Given the description of an element on the screen output the (x, y) to click on. 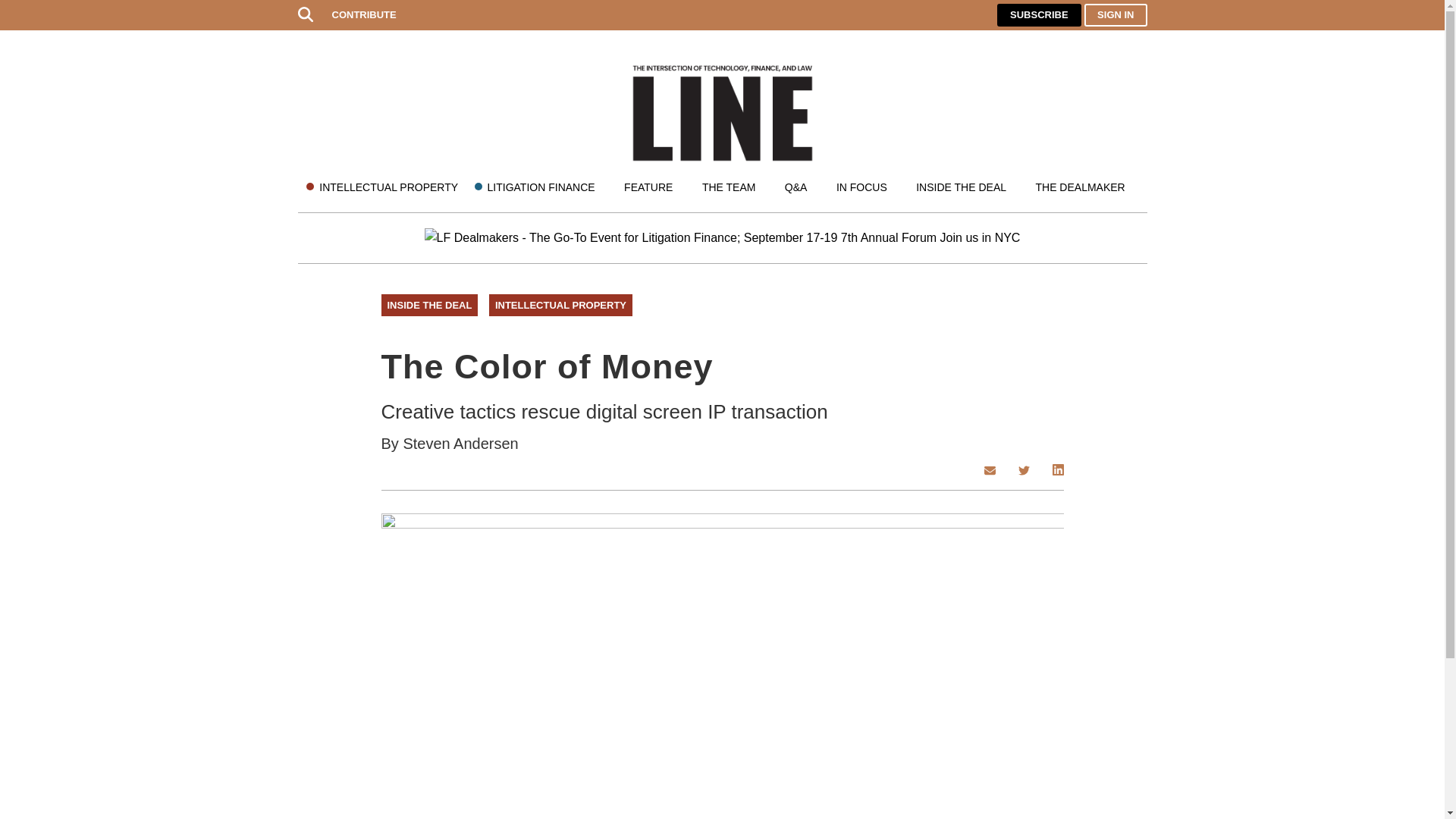
SIGN IN (1115, 15)
SUBSCRIBE (1039, 15)
INTELLECTUAL PROPERTY (388, 186)
THE TEAM (728, 186)
THE DEALMAKER (1079, 186)
INSIDE THE DEAL (960, 186)
LITIGATION FINANCE (541, 186)
IN FOCUS (860, 186)
FEATURE (648, 186)
CONTRIBUTE (363, 14)
